Given the description of an element on the screen output the (x, y) to click on. 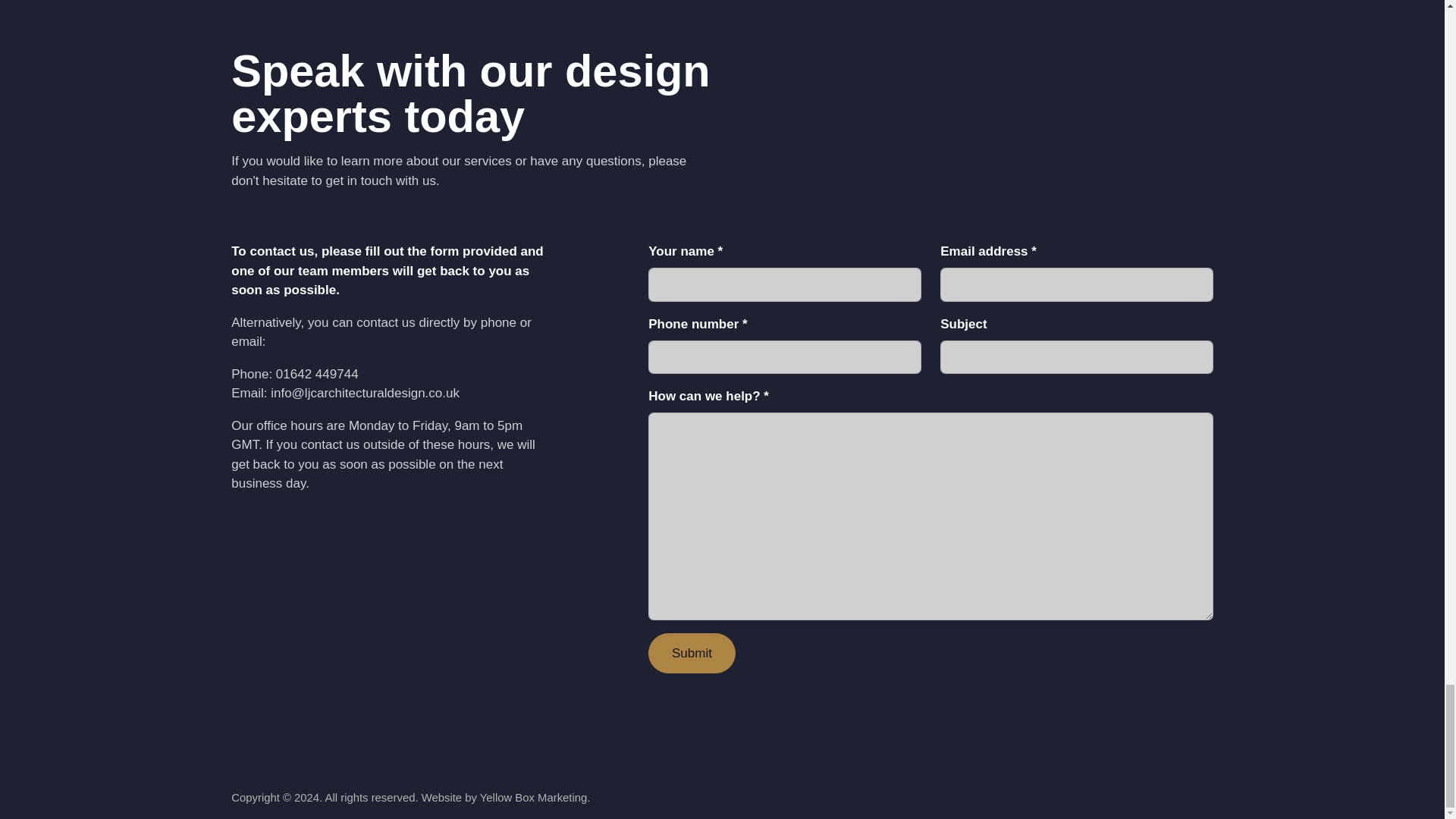
Submit (691, 653)
Submit (691, 653)
Yellow Box Marketing (534, 797)
